Given the description of an element on the screen output the (x, y) to click on. 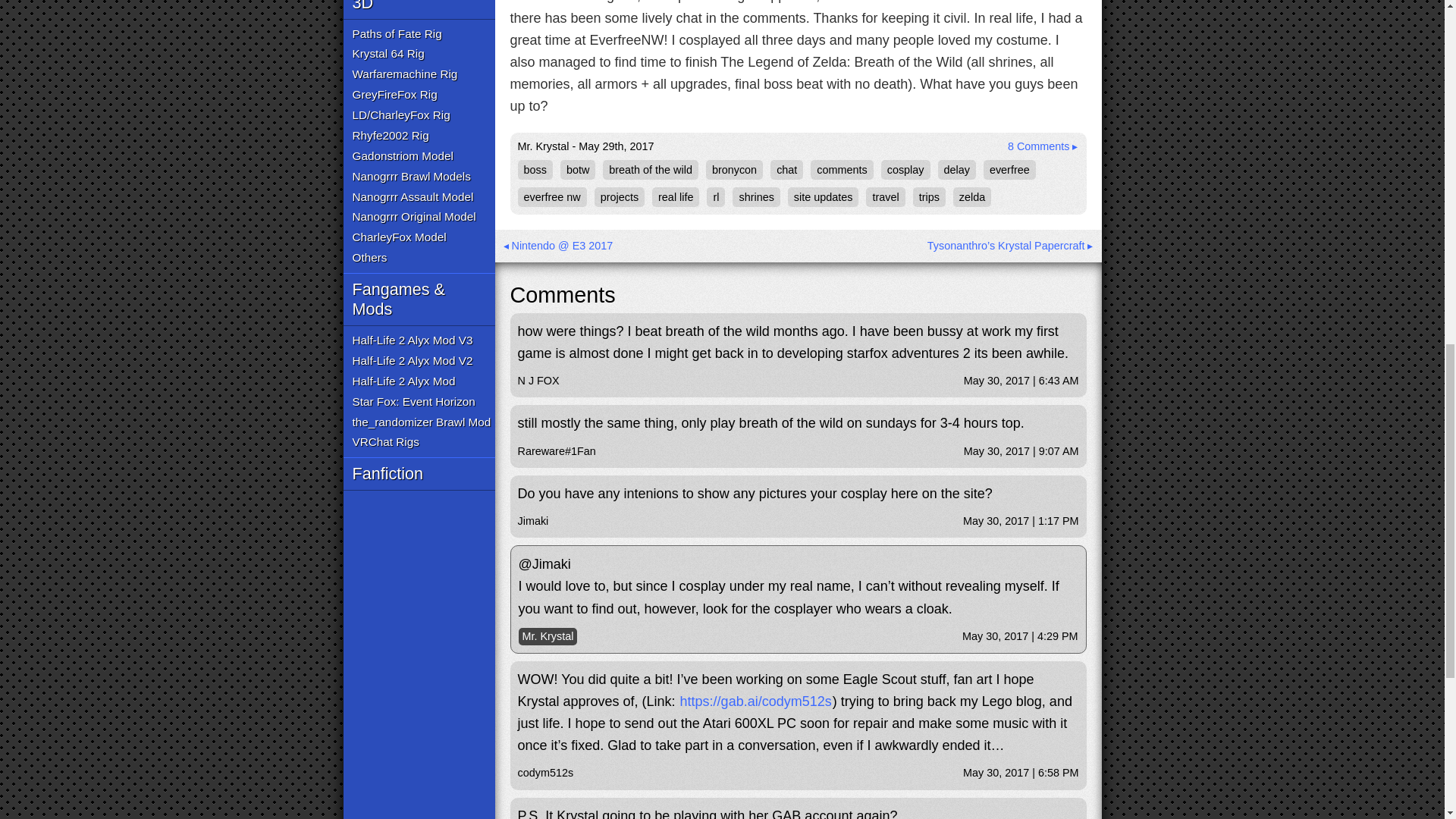
Paths of Fate Rig (396, 33)
Warfaremachine Rig (404, 74)
3D (418, 9)
GreyFireFox Rig (394, 94)
Krystal 64 Rig (387, 54)
